Given the description of an element on the screen output the (x, y) to click on. 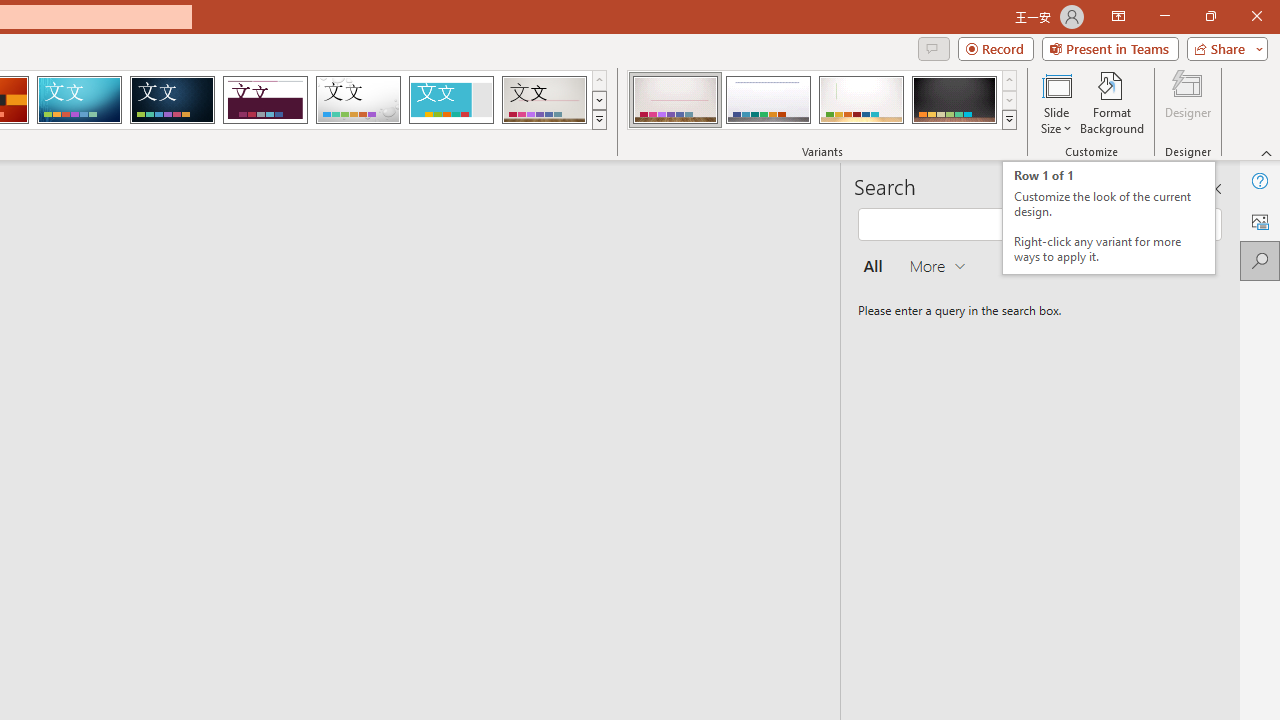
Gallery Variant 4 (953, 100)
